Given the description of an element on the screen output the (x, y) to click on. 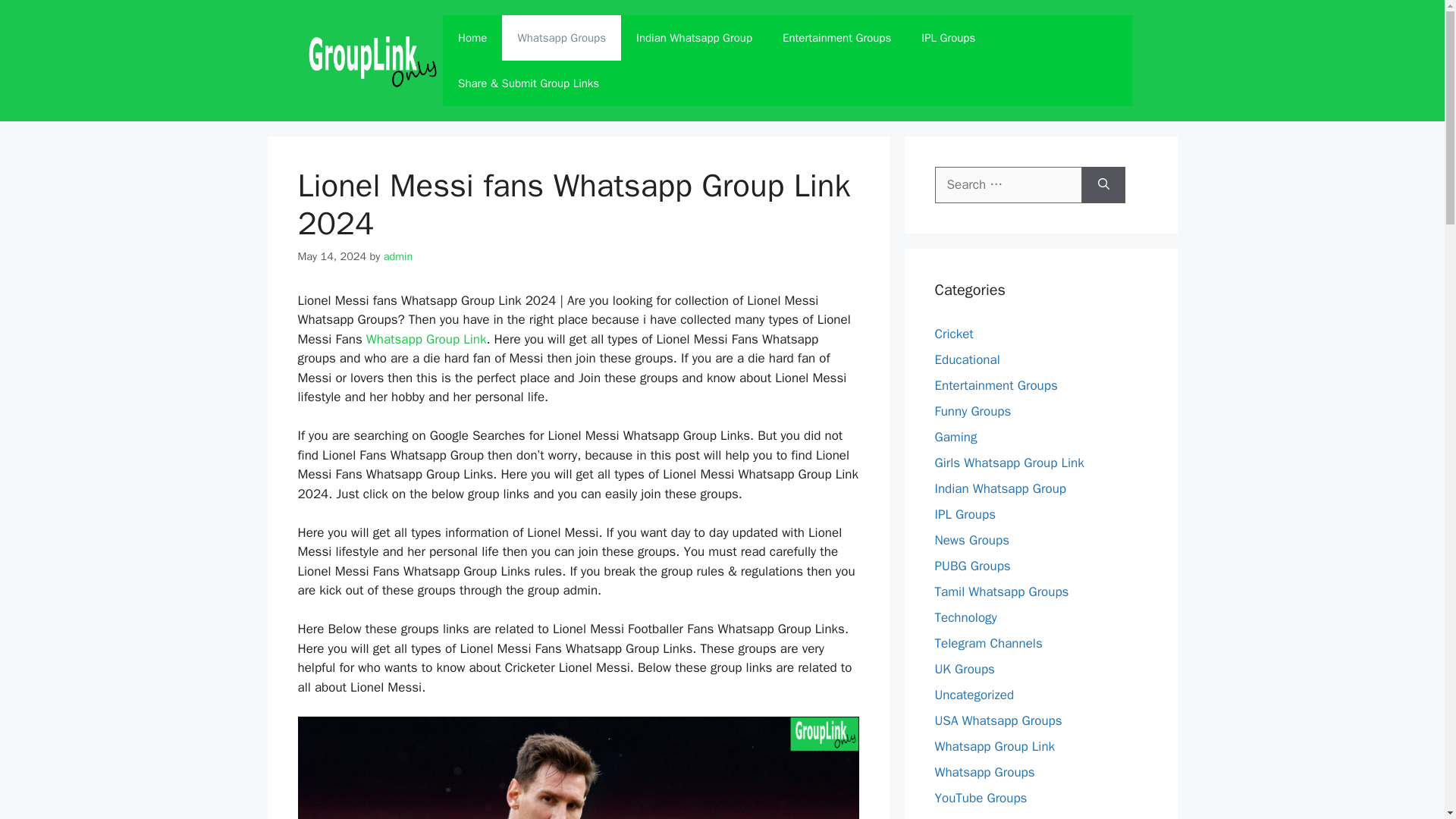
Gaming (955, 437)
Funny Groups (972, 411)
View all posts by admin (398, 255)
admin (398, 255)
Entertainment Groups (995, 385)
Home (472, 37)
Girls Whatsapp Group Link (1008, 462)
Indian Whatsapp Group (694, 37)
Cricket (953, 333)
Indian Whatsapp Group (999, 488)
